Given the description of an element on the screen output the (x, y) to click on. 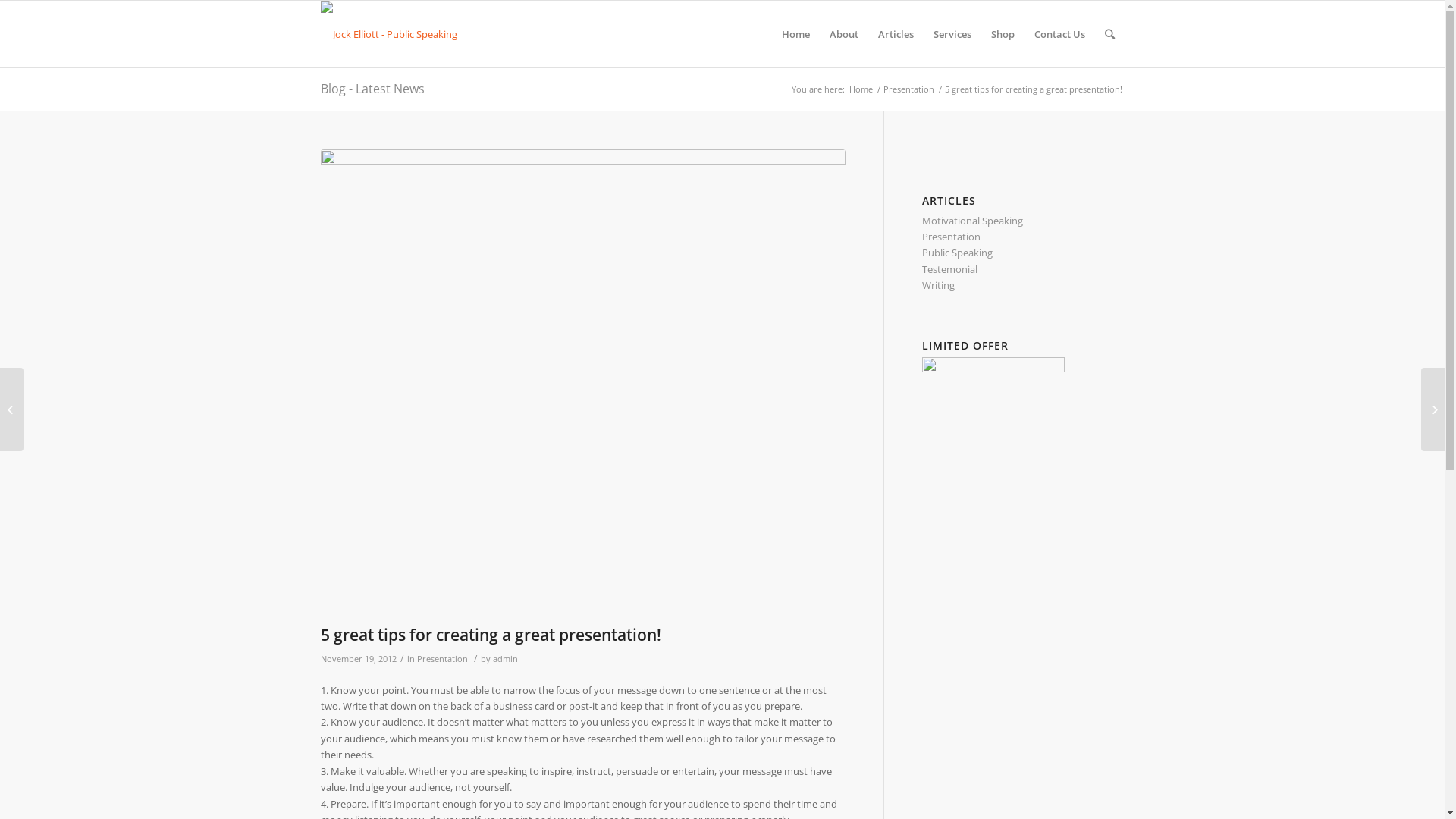
Testemonial Element type: text (949, 269)
Writing Element type: text (938, 284)
Articles Element type: text (894, 33)
5 great tips for creating a great presentation! Element type: hover (582, 383)
admin Element type: text (504, 658)
5 great tips for creating a great presentation! Element type: text (490, 634)
Presentation Element type: text (442, 658)
Public Speaking Element type: text (957, 252)
Motivational Speaking Element type: text (972, 220)
Services Element type: text (952, 33)
About Element type: text (843, 33)
Blog - Latest News Element type: text (371, 88)
Presentation Element type: text (908, 88)
Contact Us Element type: text (1058, 33)
Home Element type: text (795, 33)
Presentation Element type: text (951, 236)
Shop Element type: text (1002, 33)
Home Element type: text (860, 88)
